Given the description of an element on the screen output the (x, y) to click on. 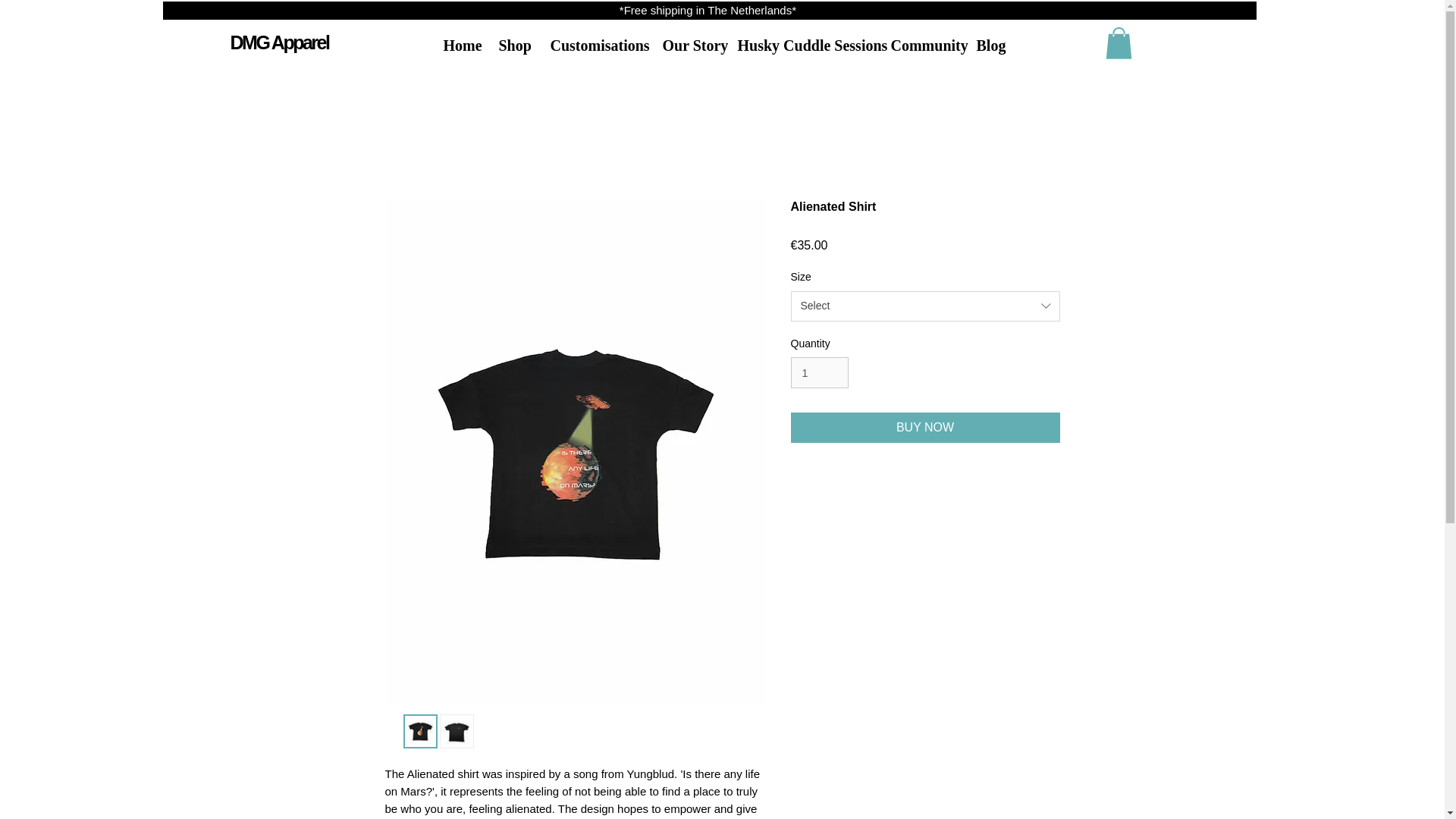
Shop (512, 45)
BUY NOW (924, 427)
Our Story (687, 45)
Community (922, 45)
Home (459, 45)
DMG Apparel (279, 42)
Select (924, 306)
Customisations (594, 45)
1 (818, 372)
Blog (987, 45)
Husky Cuddle Sessions (802, 45)
